Given the description of an element on the screen output the (x, y) to click on. 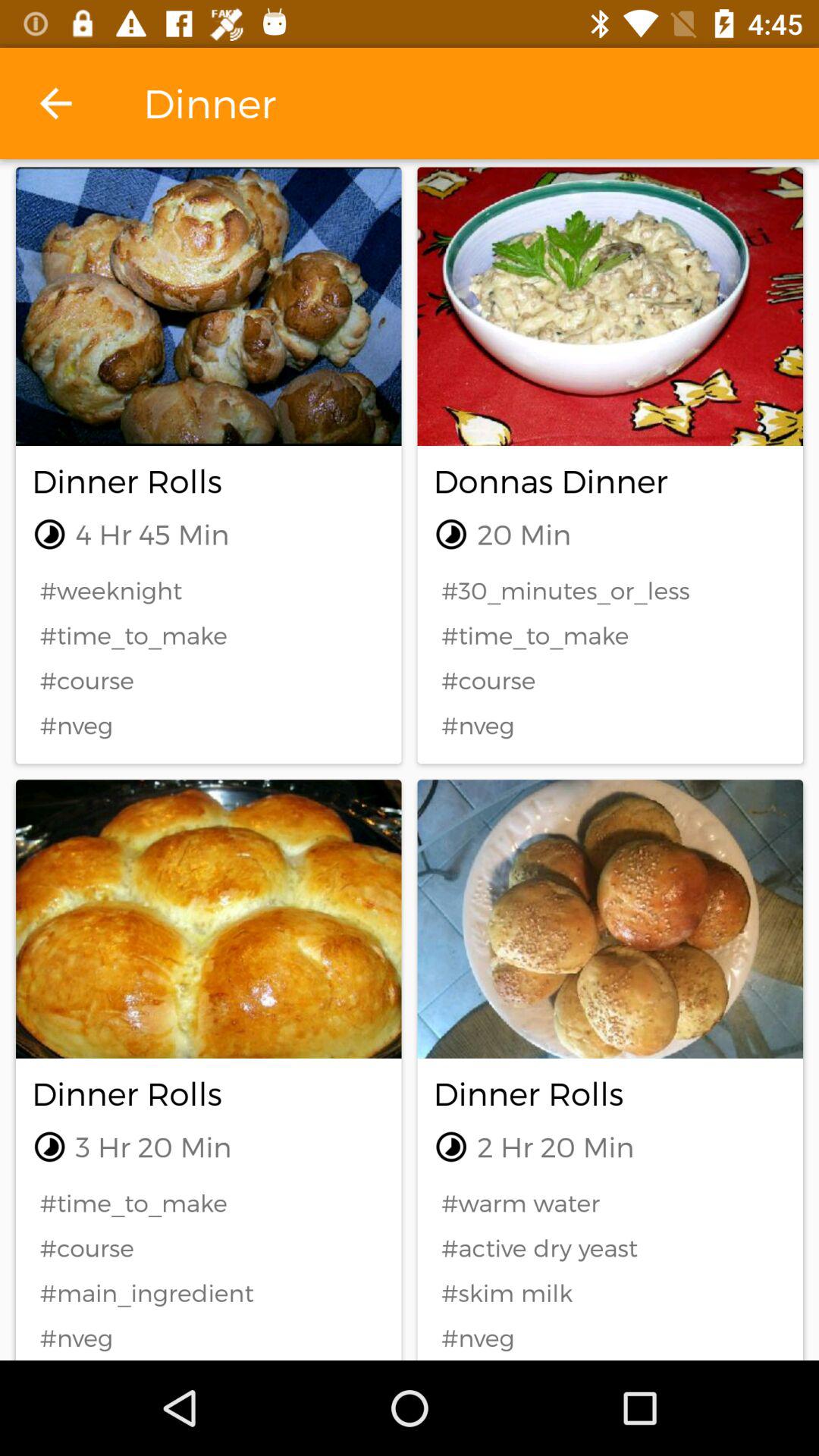
tap the icon below #warm water (610, 1247)
